Given the description of an element on the screen output the (x, y) to click on. 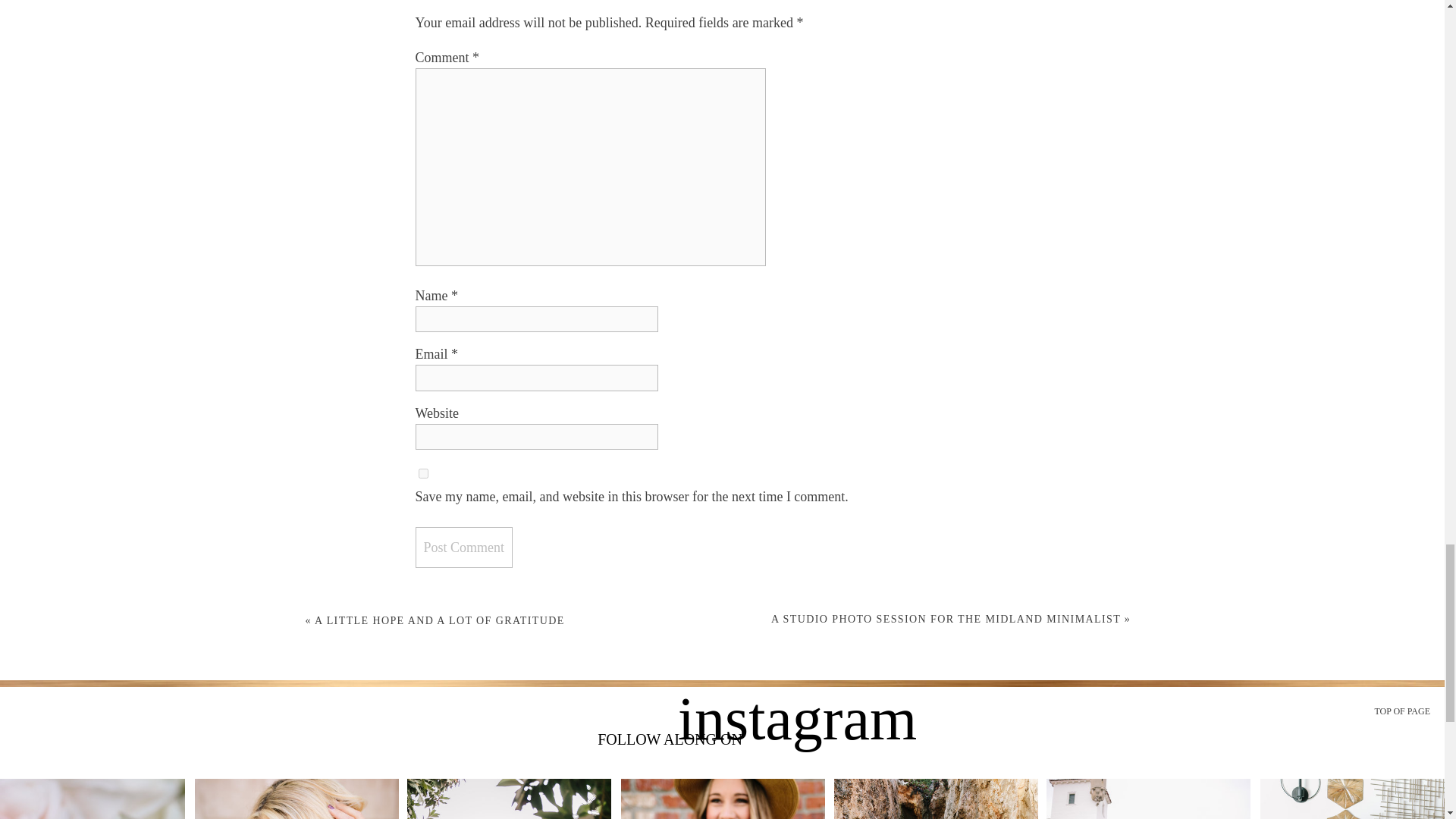
FOLLOW ALONG ON (670, 742)
A STUDIO PHOTO SESSION FOR THE MIDLAND MINIMALIST (946, 618)
TOP OF PAGE (1399, 711)
Post Comment (463, 547)
yes (423, 473)
A LITTLE HOPE AND A LOT OF GRATITUDE (439, 620)
instagram (796, 732)
Post Comment (463, 547)
